Given the description of an element on the screen output the (x, y) to click on. 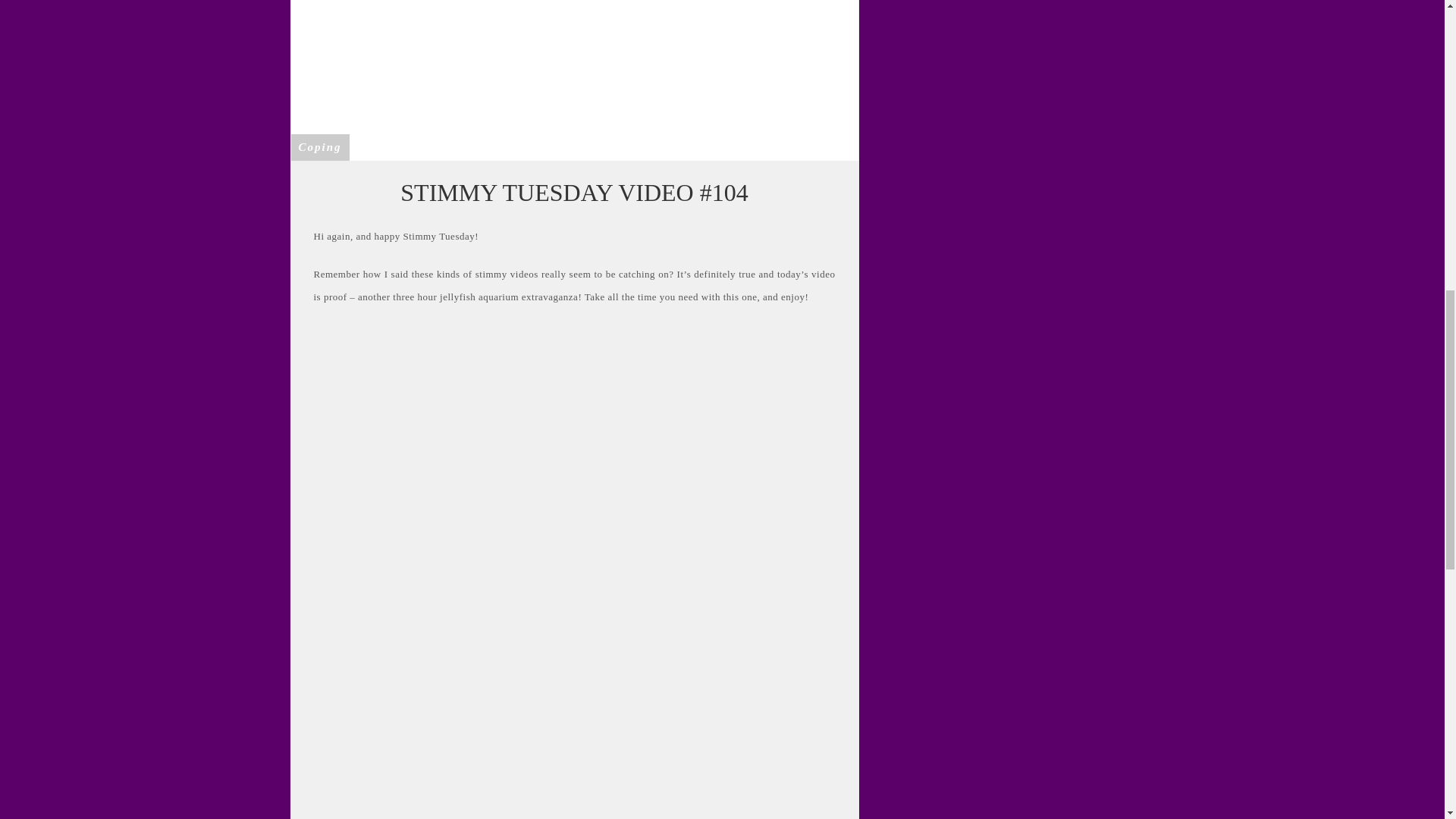
Coping (320, 146)
